Given the description of an element on the screen output the (x, y) to click on. 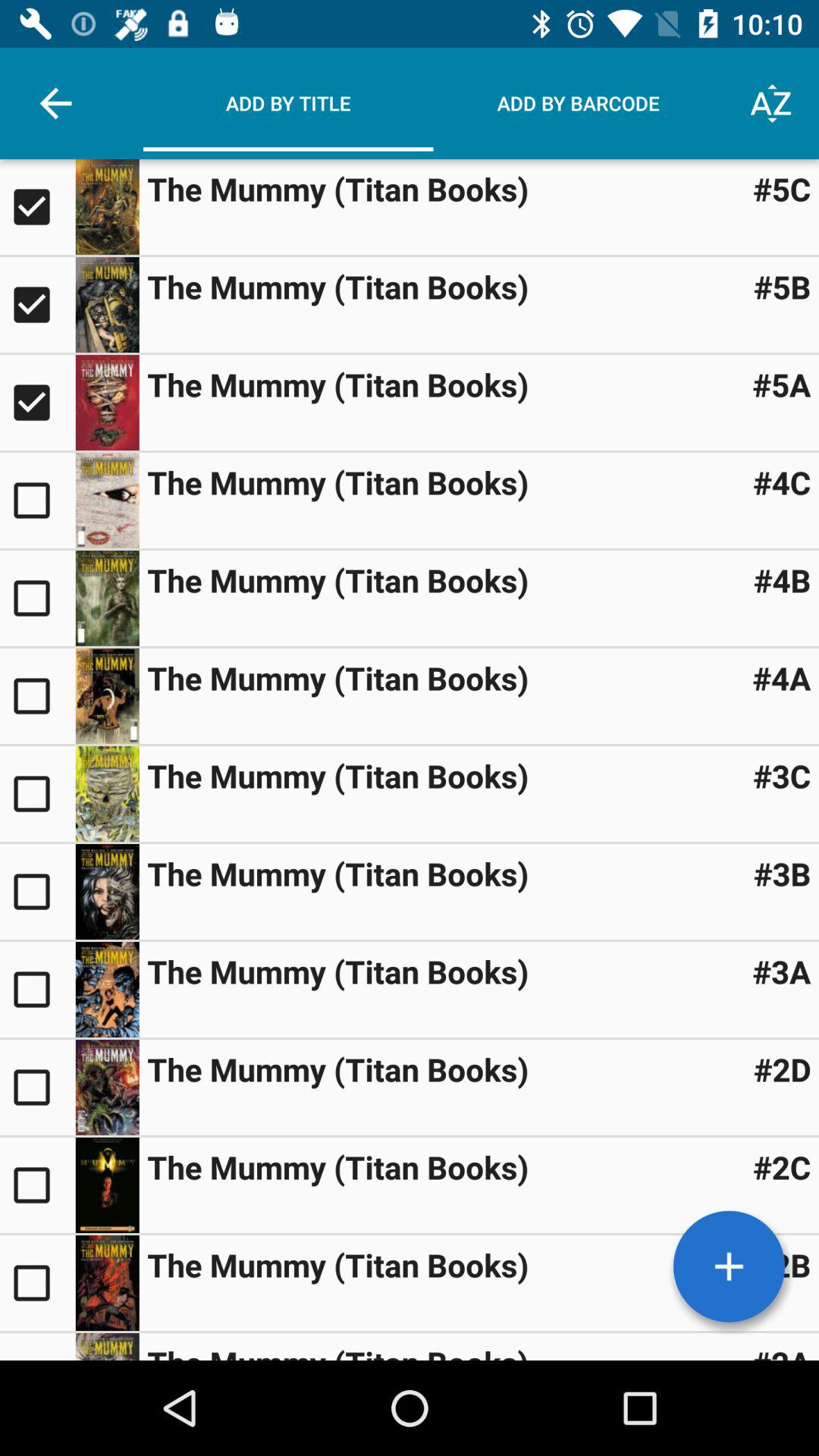
select option (37, 1185)
